Given the description of an element on the screen output the (x, y) to click on. 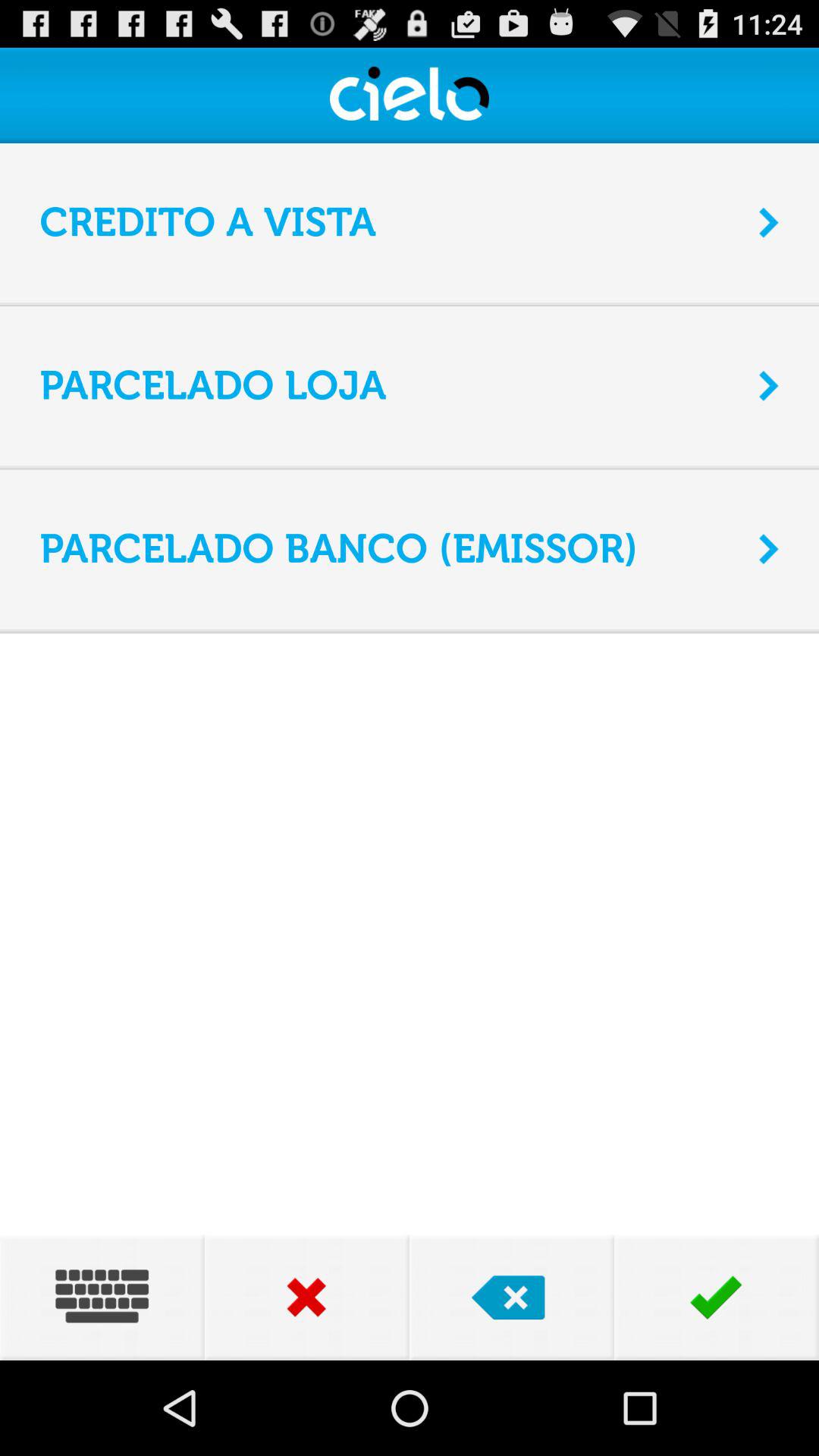
tap icon below the parcelado banco (emissor) app (409, 630)
